Given the description of an element on the screen output the (x, y) to click on. 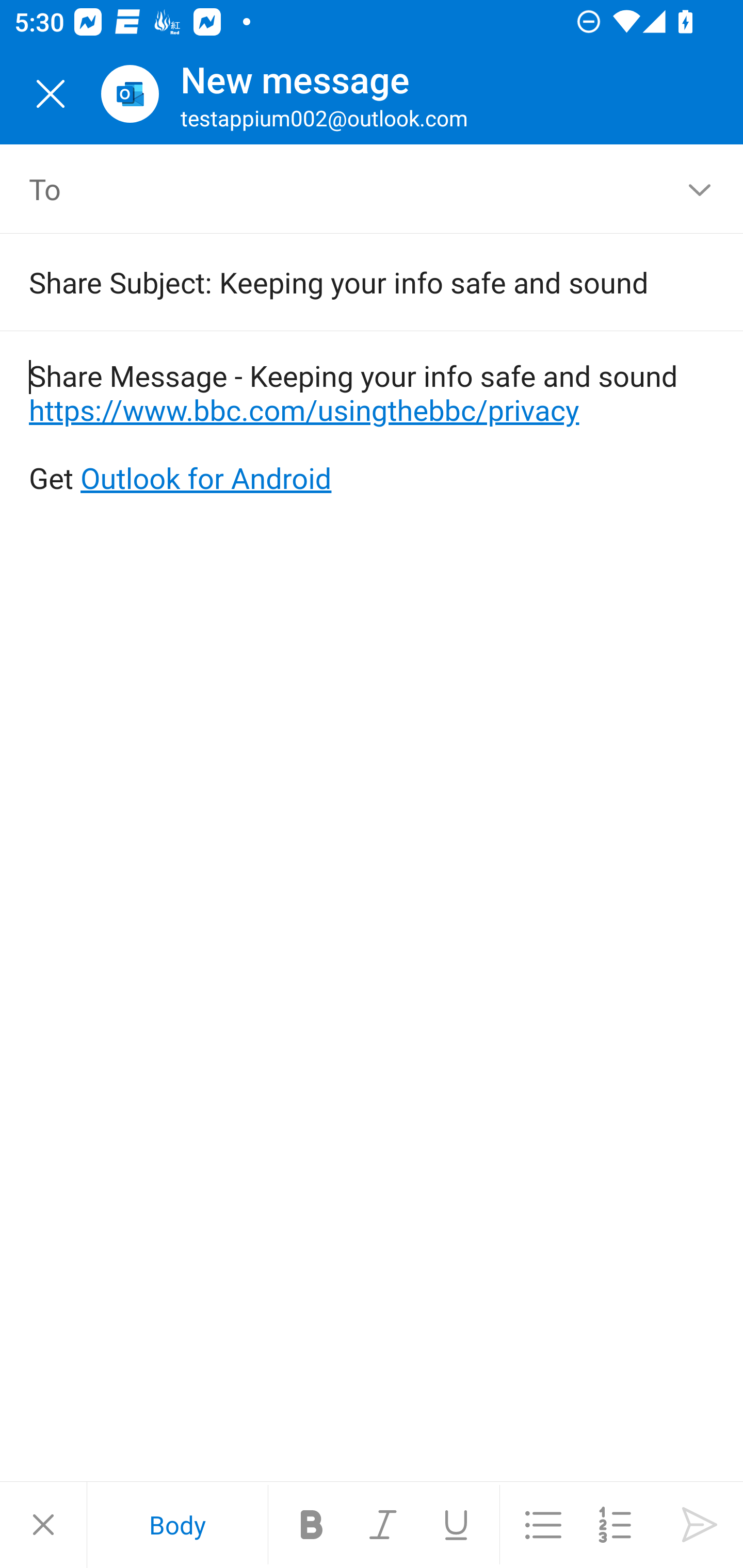
Close (50, 93)
Share Subject: Keeping your info safe and sound (342, 281)
Close (43, 1524)
Send (699, 1524)
Font style button body Body (176, 1524)
Bold (311, 1524)
Italics (384, 1524)
Underline (456, 1524)
Bulleted list (543, 1524)
Numbered list (615, 1524)
